Given the description of an element on the screen output the (x, y) to click on. 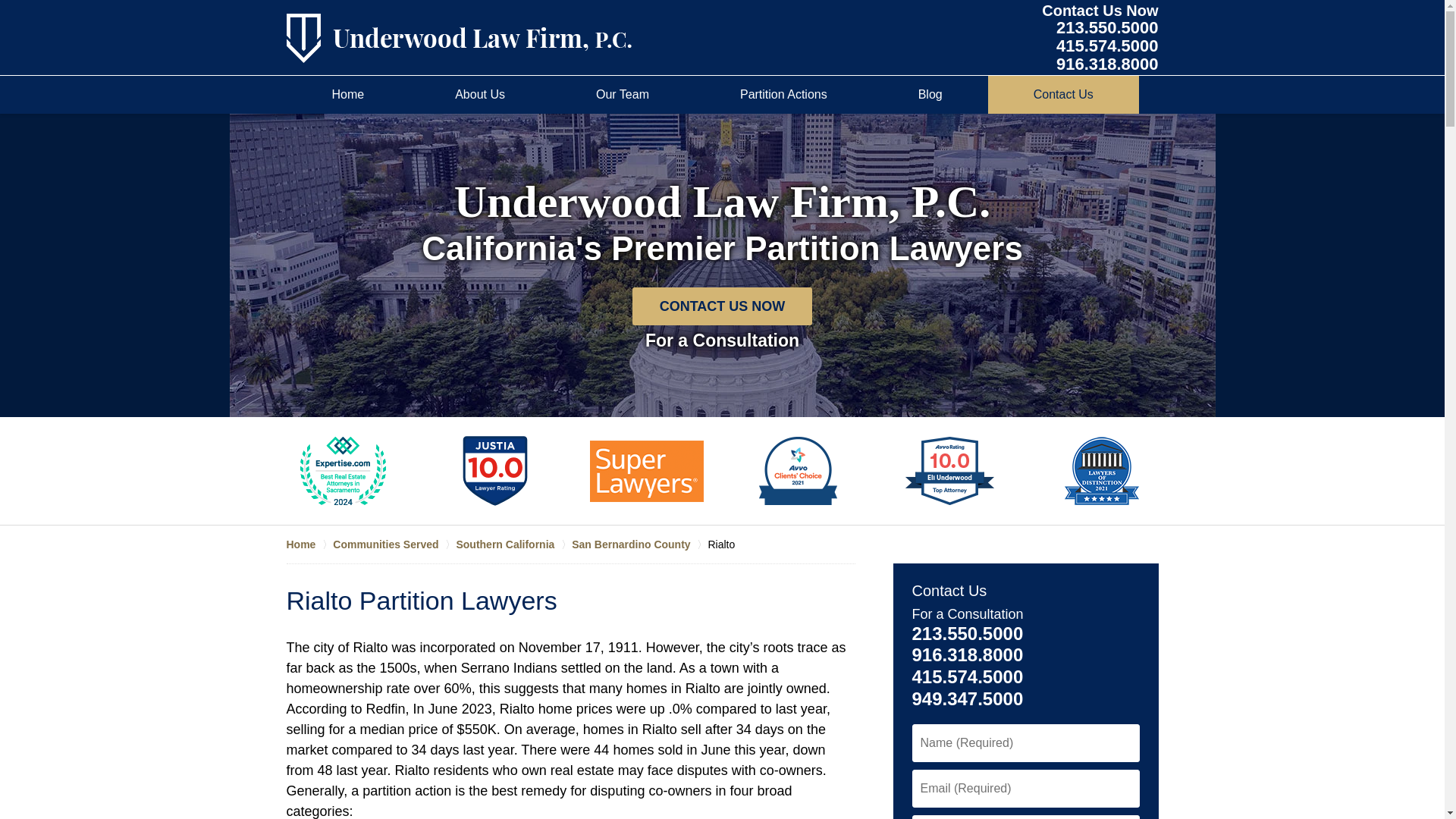
Contact Us (1063, 94)
Home (309, 544)
San Bernardino County (639, 544)
Communities Served (394, 544)
About Us (1099, 38)
Underwood Law Firm, P.C. Home (479, 94)
Home (459, 38)
Back to Home (348, 94)
Blog (459, 38)
